Given the description of an element on the screen output the (x, y) to click on. 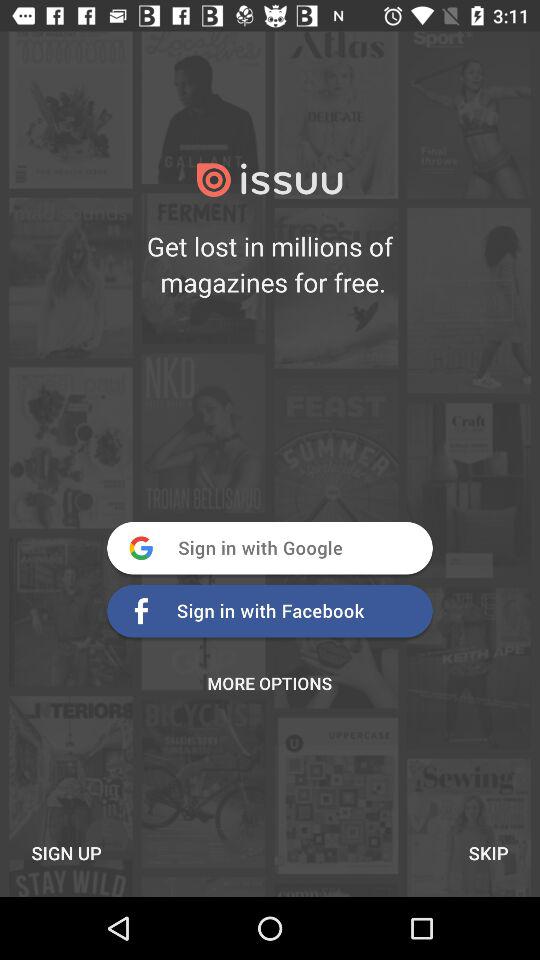
launch the icon next to sign up item (488, 852)
